Given the description of an element on the screen output the (x, y) to click on. 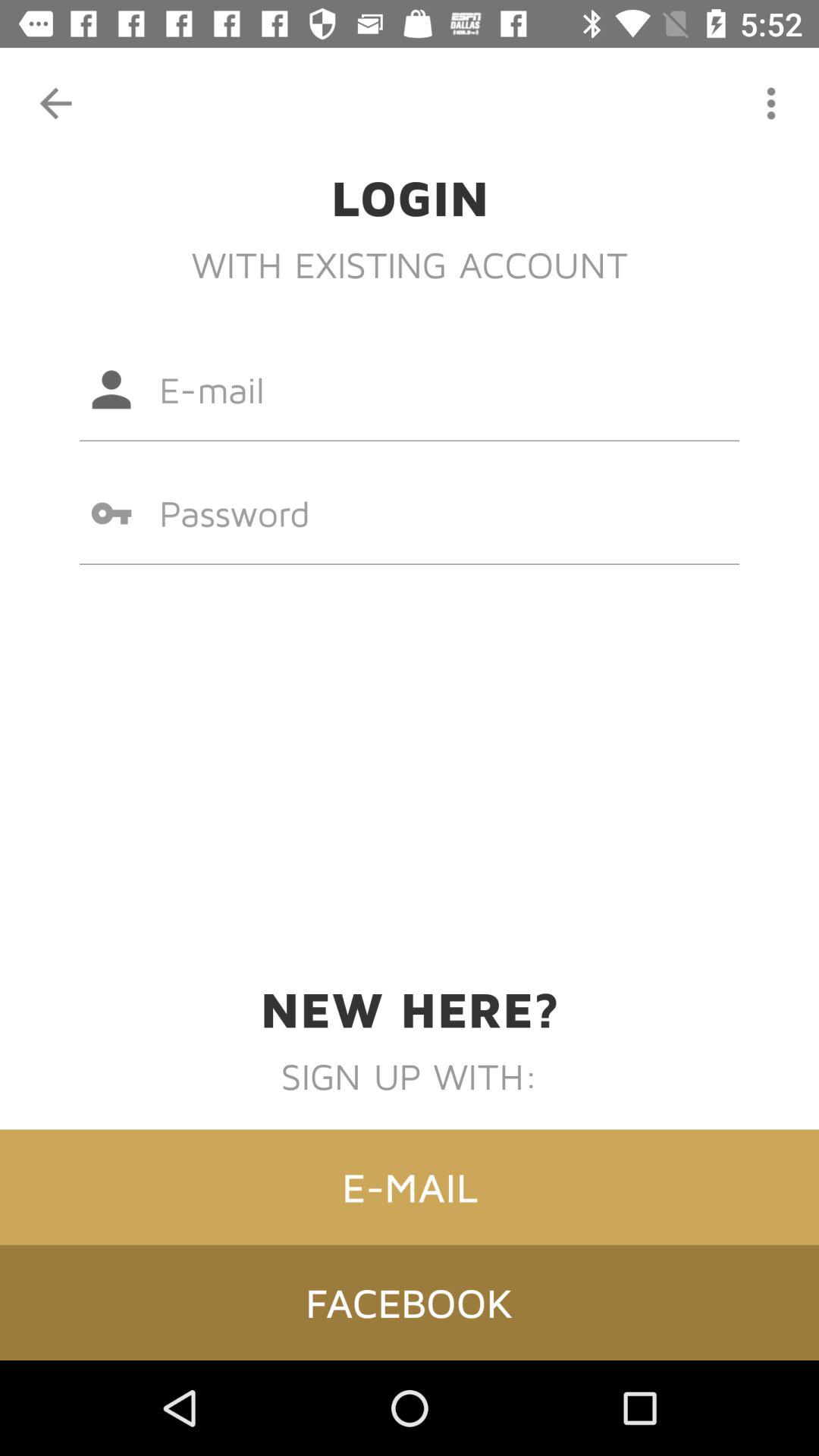
turn on the icon at the center (409, 512)
